Given the description of an element on the screen output the (x, y) to click on. 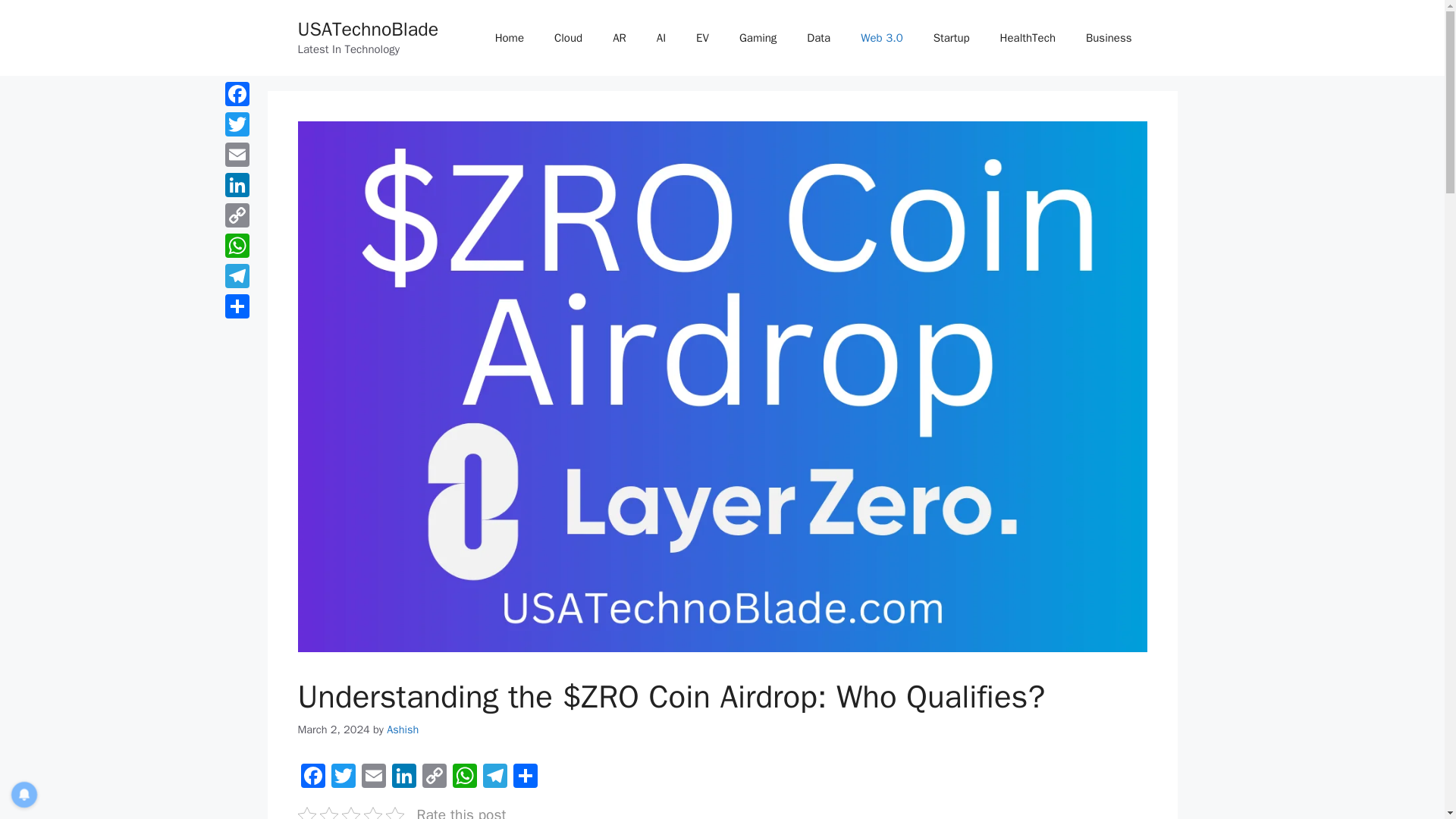
LinkedIn (403, 777)
Telegram (494, 777)
HealthTech (1027, 37)
Gaming (757, 37)
Web 3.0 (881, 37)
Twitter (342, 777)
Startup (951, 37)
Share (524, 777)
Copy Link (433, 777)
Email (373, 777)
EV (702, 37)
View all posts by Ashish (403, 729)
WhatsApp (463, 777)
Cloud (567, 37)
WhatsApp (463, 777)
